Given the description of an element on the screen output the (x, y) to click on. 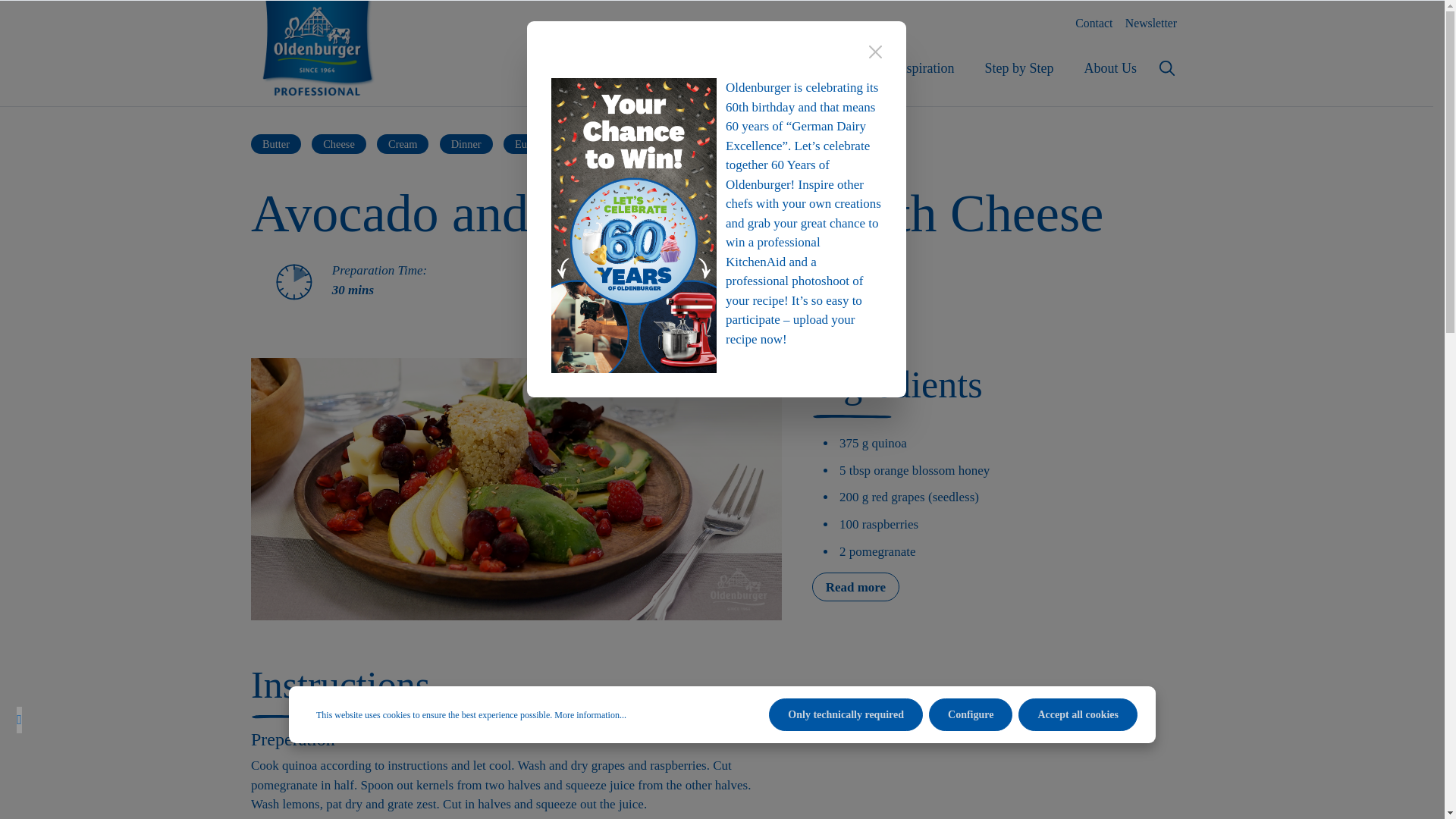
About Us (1109, 67)
Products (727, 67)
Newsletter (1150, 22)
Step by Step (1018, 67)
Products (727, 67)
Recipes (805, 67)
Go to homepage (317, 47)
About Us (1109, 67)
Products (727, 67)
Chef's Inspiration (906, 67)
Butter (716, 75)
Cheese (275, 143)
Step by Step (338, 143)
